Given the description of an element on the screen output the (x, y) to click on. 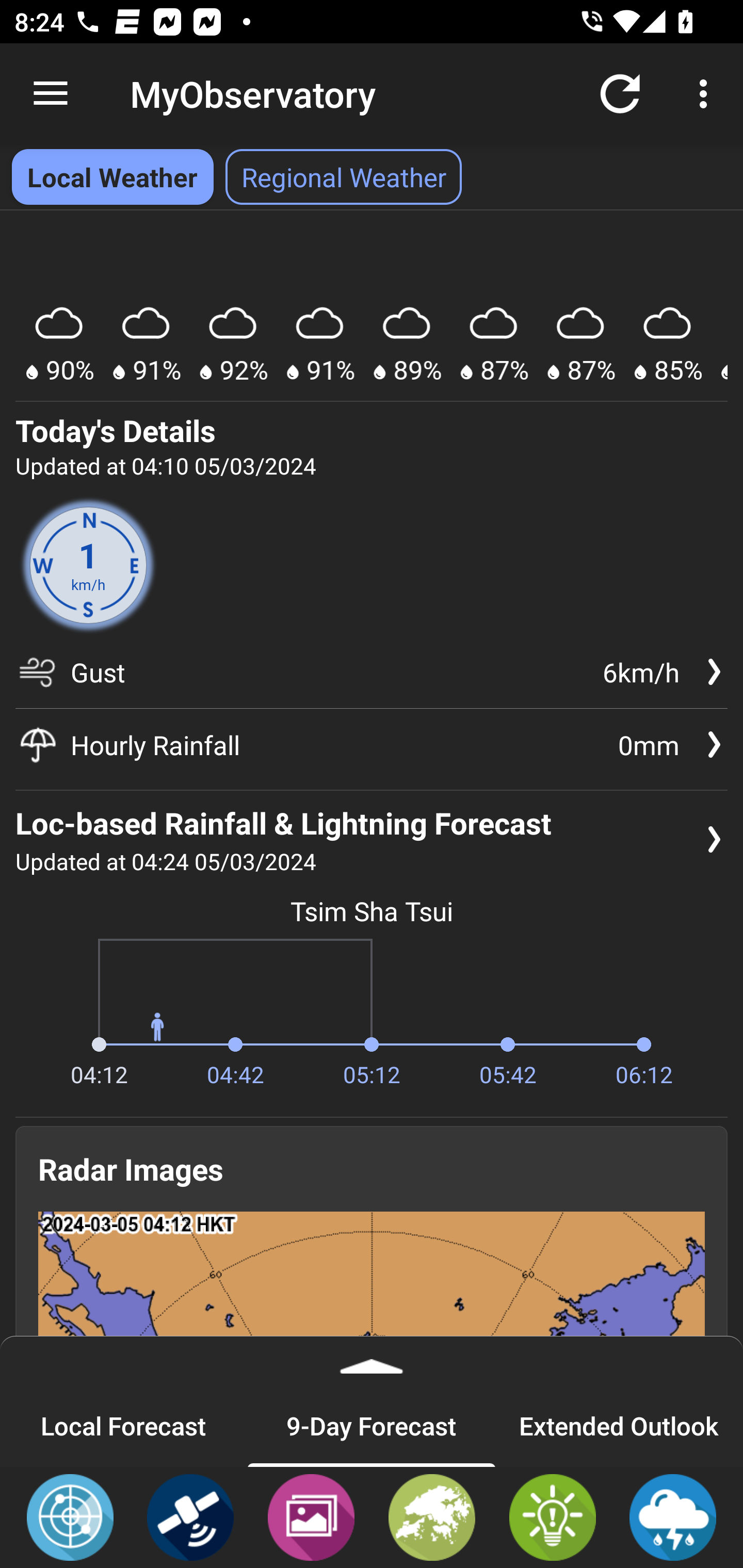
Navigate up (50, 93)
Refresh (619, 93)
More options (706, 93)
Local Weather Local Weather selected (112, 176)
Regional Weather Select Regional Weather (343, 176)
Gust 6km/h Gust 6km/h (371, 678)
Hourly Rainfall 0mm Hourly Rainfall 0mm (371, 744)
Radar Images 64 km (371, 1339)
Expand (371, 1358)
Local Forecast (123, 1424)
Extended Outlook (619, 1424)
Radar Images (69, 1516)
Satellite Images (190, 1516)
Weather Photos (310, 1516)
Regional Weather (431, 1516)
Weather Tips (551, 1516)
Loc-based Rainfall & Lightning Forecast (672, 1516)
